Given the description of an element on the screen output the (x, y) to click on. 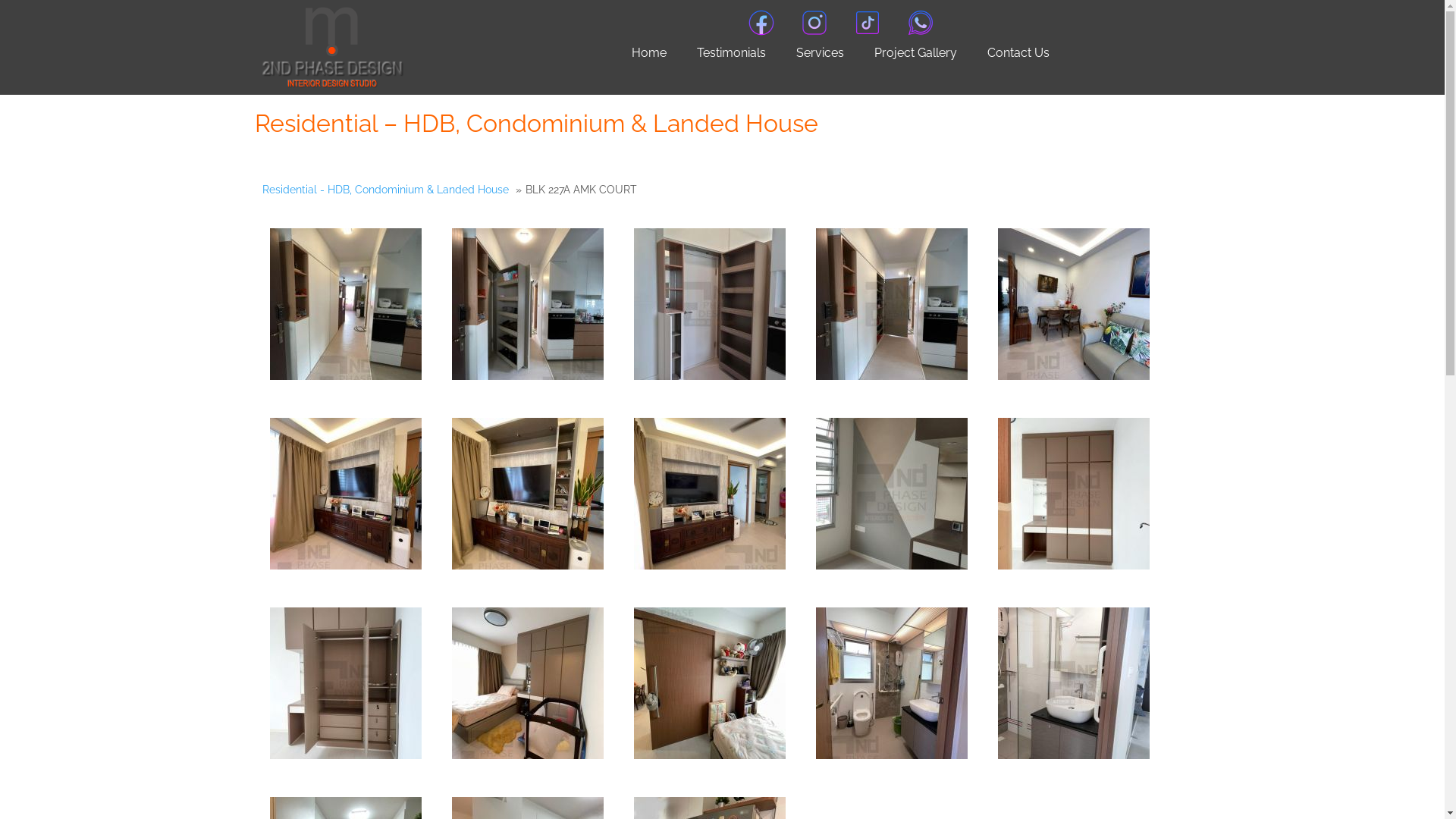
Residential - HDB, Condominium & Landed House Element type: text (385, 193)
09-Living Element type: hover (345, 493)
Home Element type: text (648, 52)
Project Gallery Element type: text (915, 52)
Testimonials Element type: text (731, 52)
Contact Us Element type: text (1017, 52)
17-Bathroom Element type: hover (891, 683)
15-Bedroom Element type: hover (527, 683)
14-Bedroom Element type: hover (345, 683)
10-Living Element type: hover (527, 493)
08-Dining Element type: hover (1073, 303)
11-Living Element type: hover (709, 493)
18-Bathroom Element type: hover (1073, 683)
16-Bedroom Element type: hover (709, 683)
04-Entrance Element type: hover (891, 303)
12-Bedroom Element type: hover (891, 493)
01-Entrance Element type: hover (345, 303)
02-Entrance Element type: hover (527, 303)
03-Entrance Element type: hover (709, 303)
13-Bedroom Element type: hover (1073, 493)
Services Element type: text (819, 52)
